Given the description of an element on the screen output the (x, y) to click on. 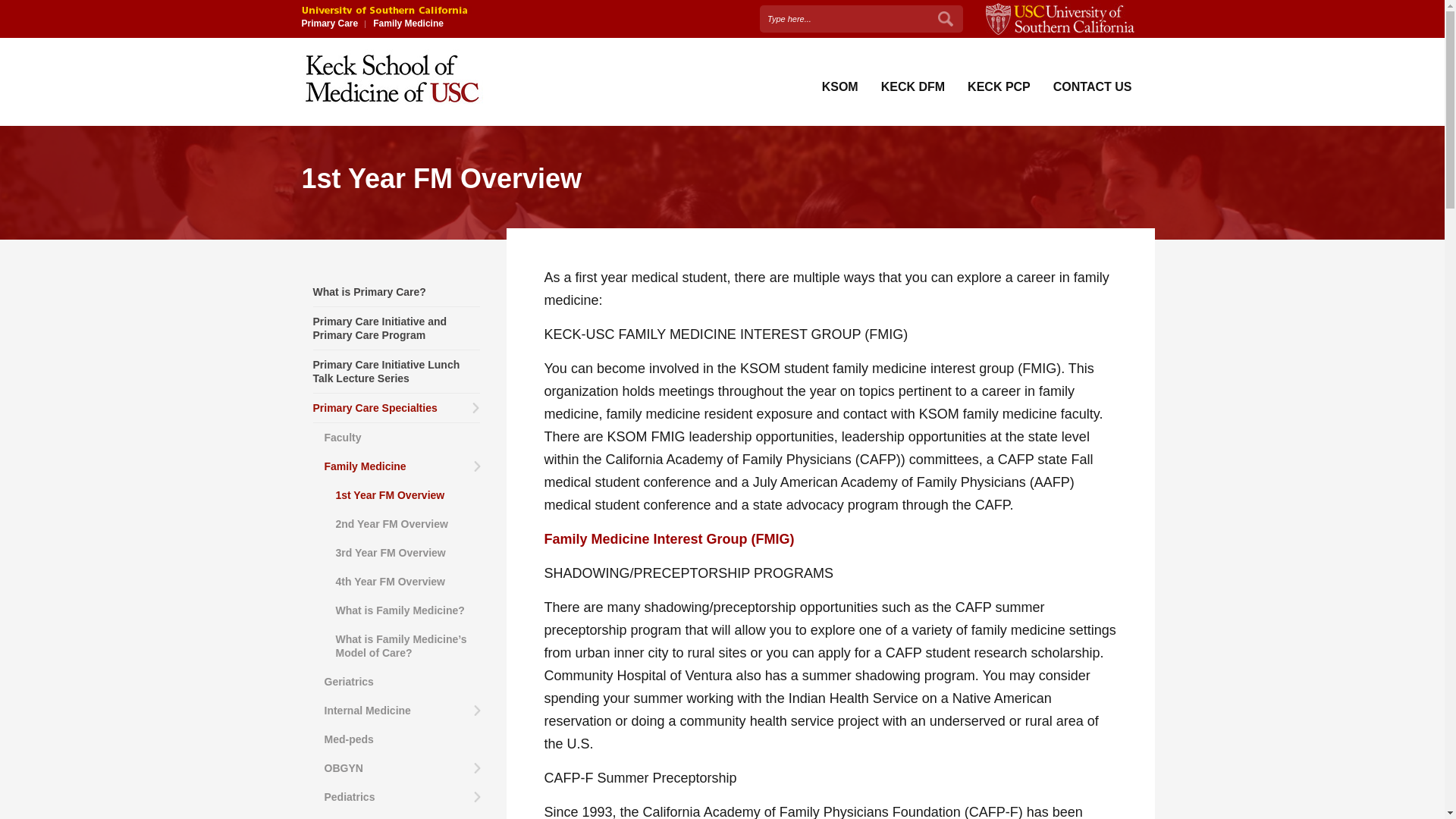
1st Year FM Overview (407, 494)
Med-peds (402, 738)
Primary Care Specialties (396, 408)
OBGYN (402, 767)
CONTACT US (1092, 86)
4th Year FM Overview (407, 581)
Family Medicine (408, 23)
Family Medicine (402, 466)
Primary Care (329, 23)
Primary Care Initiative Lunch Talk Lecture Series (396, 371)
Pediatrics (402, 796)
Primary Care Initiative and Primary Care Program (396, 328)
KSOM (839, 86)
Faculty (402, 437)
Clinical Opportunities (396, 815)
